Given the description of an element on the screen output the (x, y) to click on. 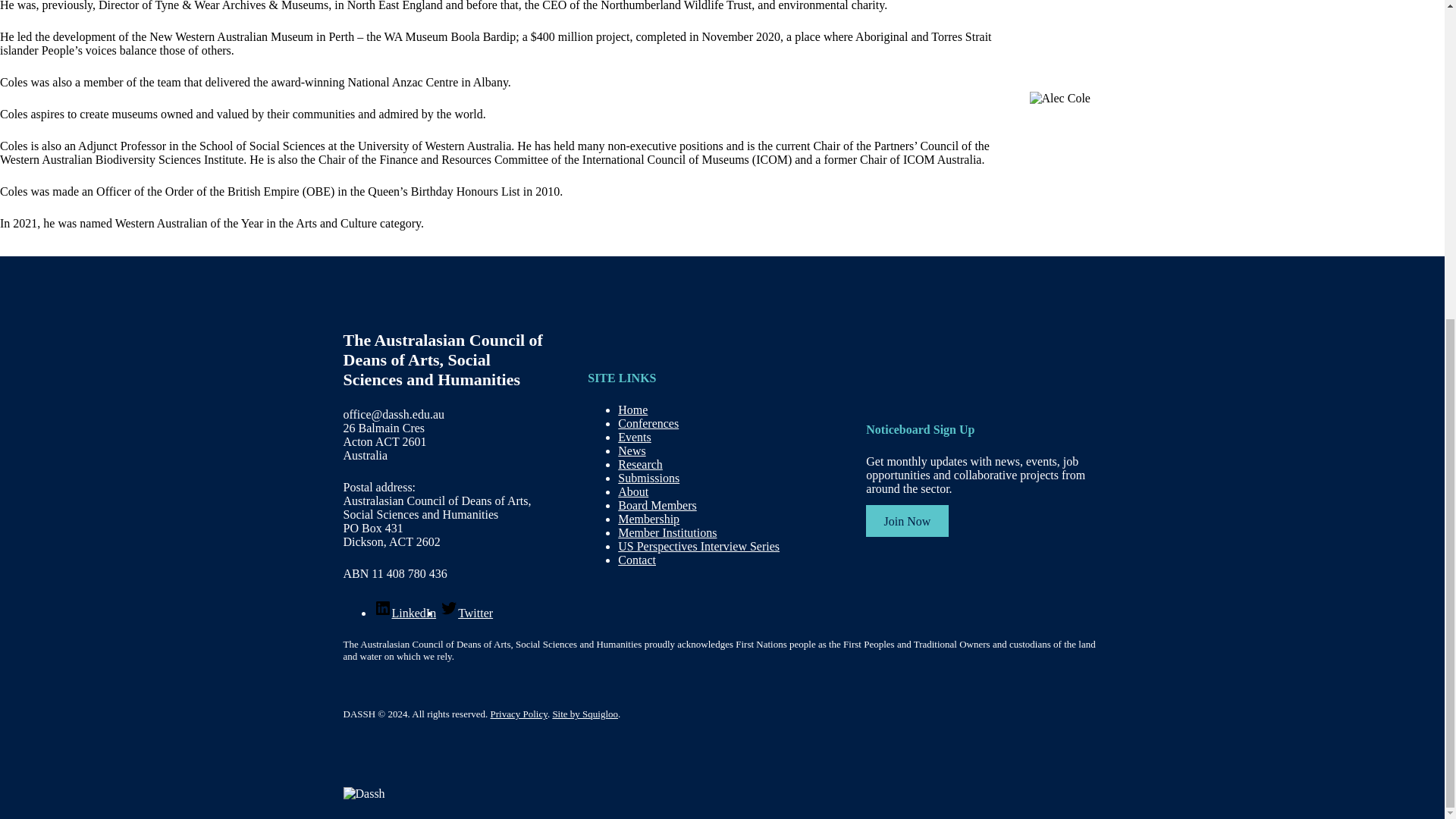
Privacy Policy (518, 713)
Member Institutions (666, 532)
Conferences (647, 422)
Contact (636, 559)
Home (632, 409)
Join Now (906, 521)
US Perspectives Interview Series (697, 545)
Membership (648, 518)
Events (633, 436)
LinkedIn (403, 612)
